Given the description of an element on the screen output the (x, y) to click on. 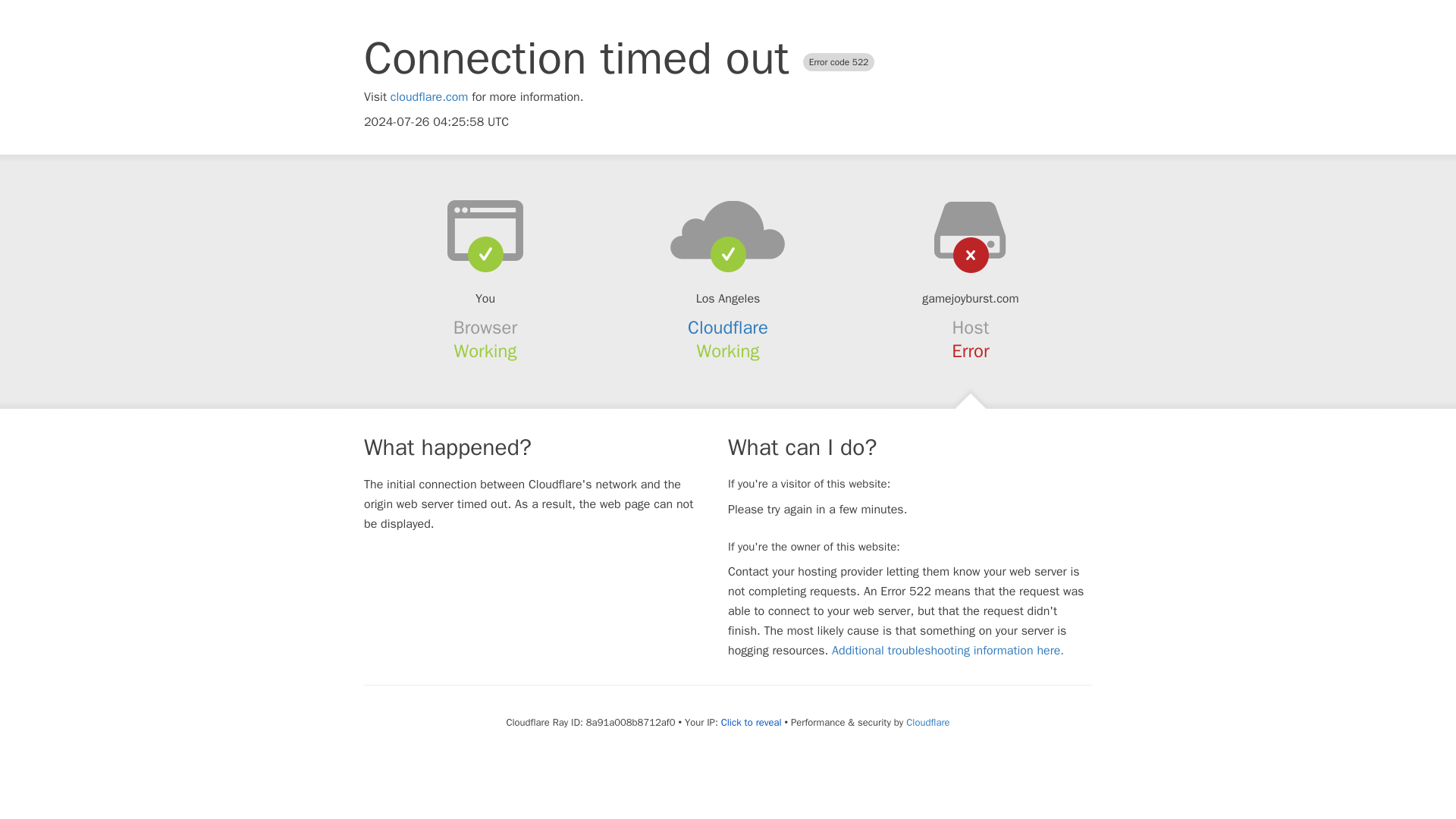
Additional troubleshooting information here. (947, 650)
Cloudflare (727, 327)
Cloudflare (927, 721)
cloudflare.com (429, 96)
Click to reveal (750, 722)
